Given the description of an element on the screen output the (x, y) to click on. 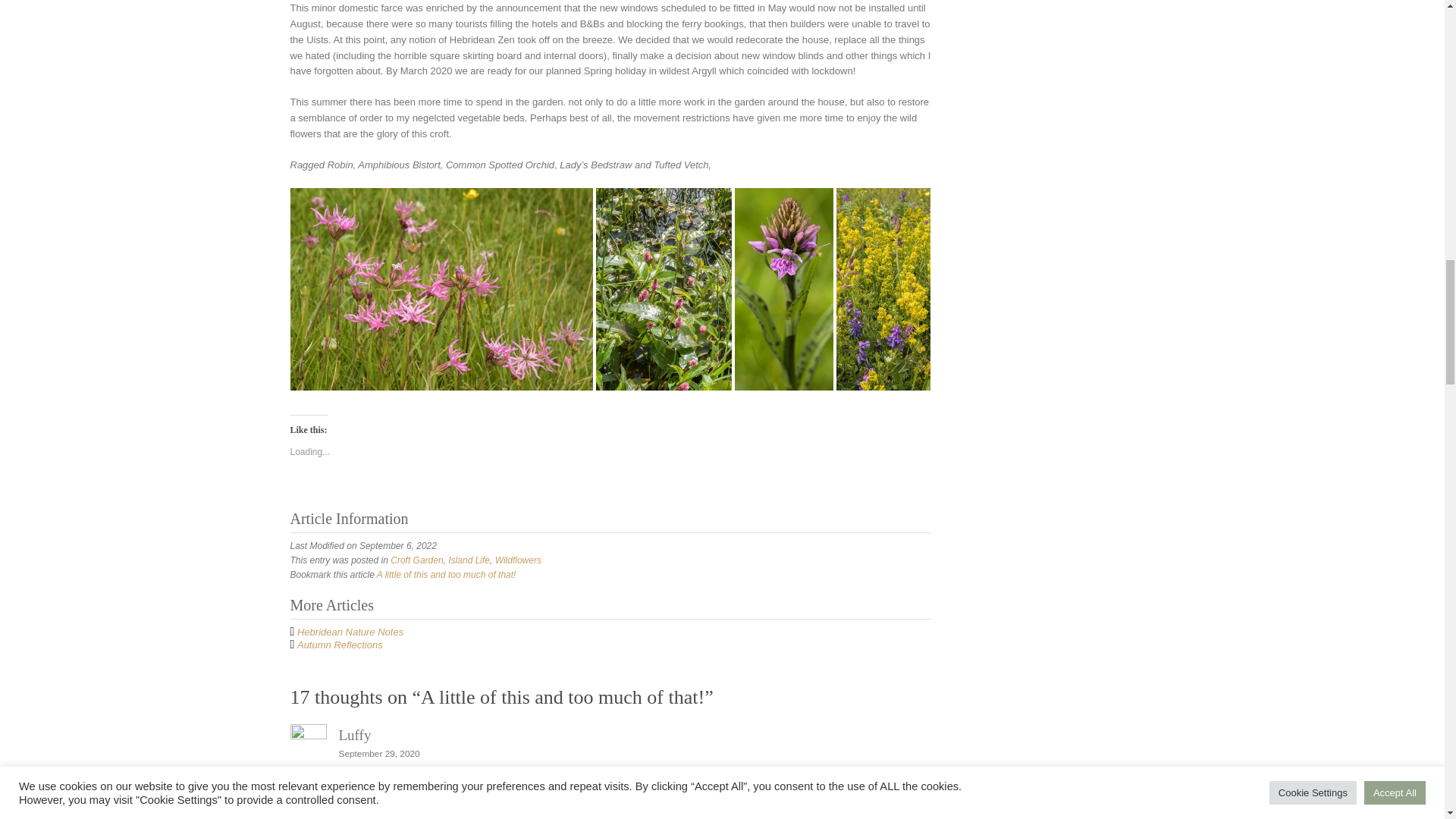
A little of this and too much of that! (446, 574)
Wildflowers (518, 560)
Croft Garden (416, 560)
Hebridean Nature Notes (350, 632)
Autumn Reflections (339, 644)
Island Life (468, 560)
